Given the description of an element on the screen output the (x, y) to click on. 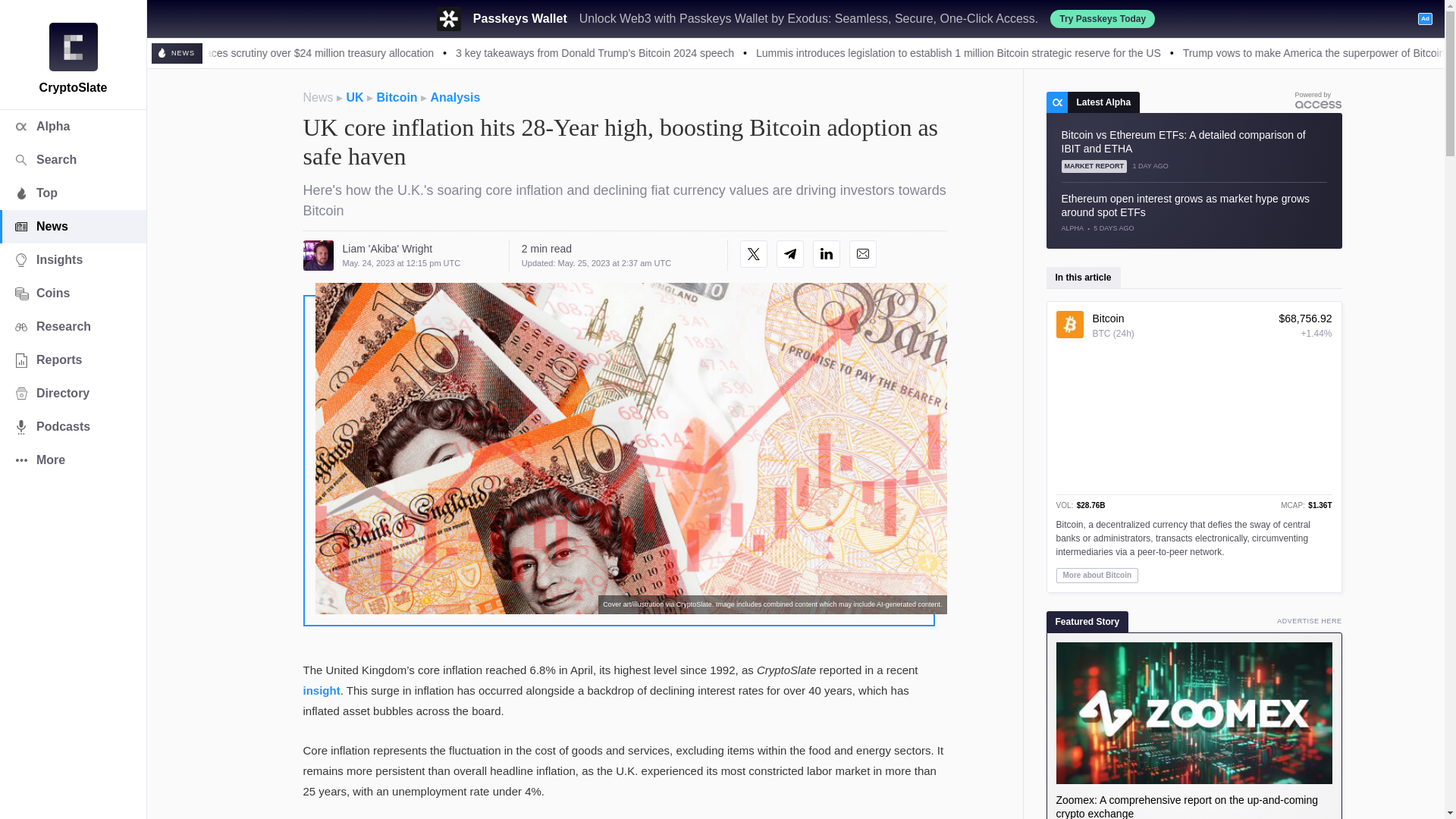
Reports (73, 359)
News (73, 226)
Directory (73, 393)
 CryptoSlate (72, 46)
Top (73, 192)
Insights (73, 259)
CryptoSlate (72, 46)
Podcasts (73, 426)
Alpha (73, 126)
Research (73, 326)
Coins (73, 293)
